Given the description of an element on the screen output the (x, y) to click on. 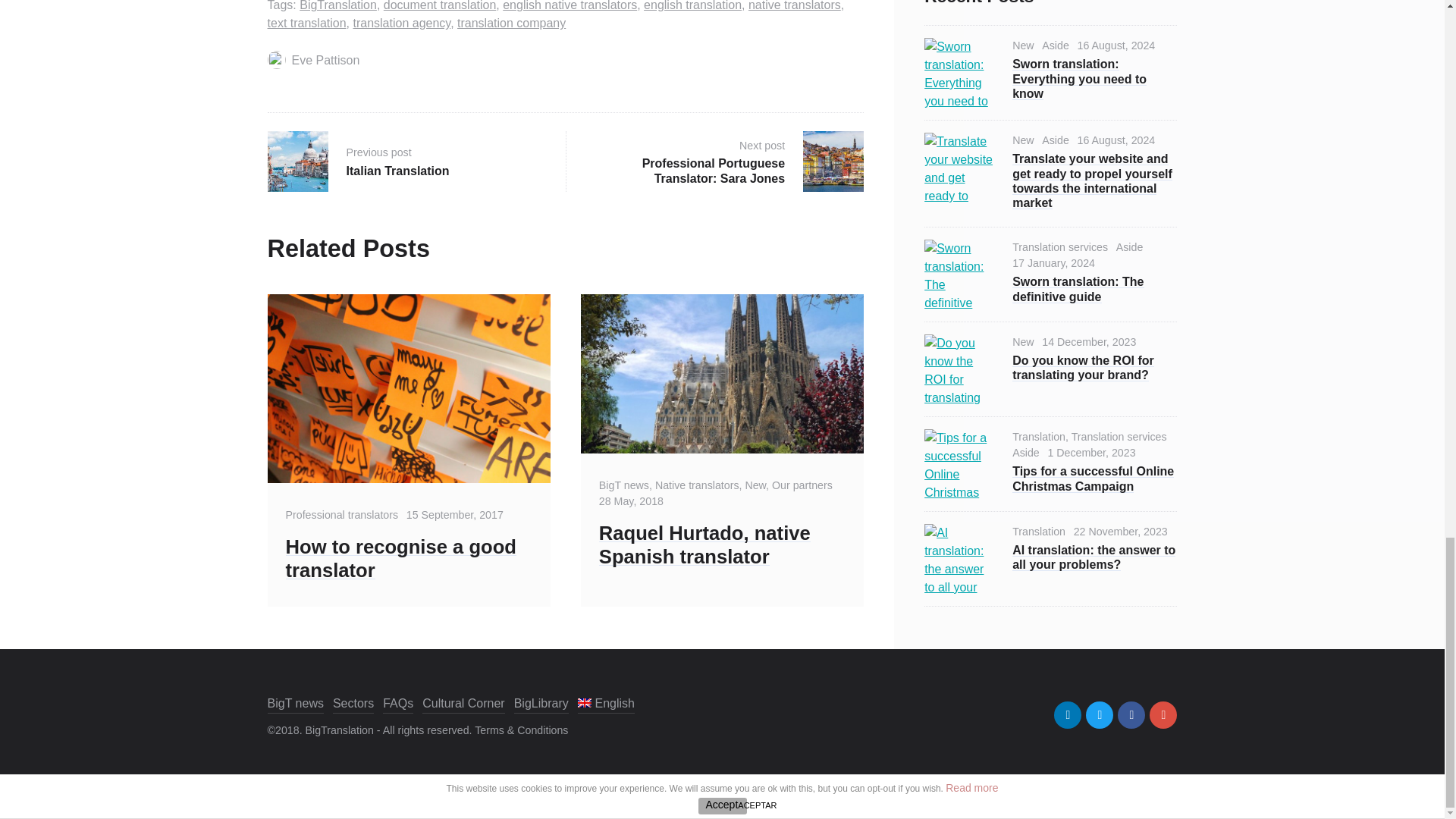
english native translators (569, 5)
document translation (440, 5)
BigTranslation (338, 5)
English (606, 703)
